Given the description of an element on the screen output the (x, y) to click on. 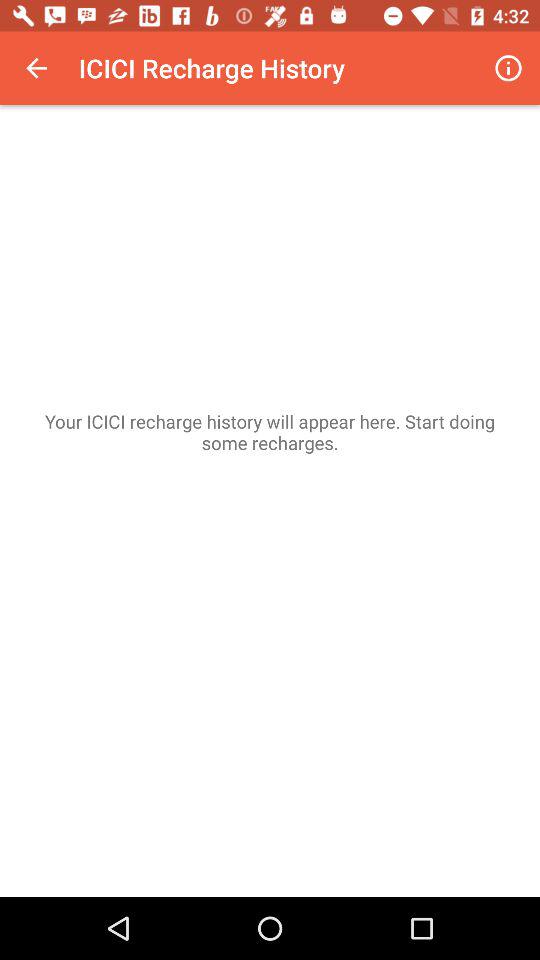
tap icon at the top left corner (36, 68)
